Given the description of an element on the screen output the (x, y) to click on. 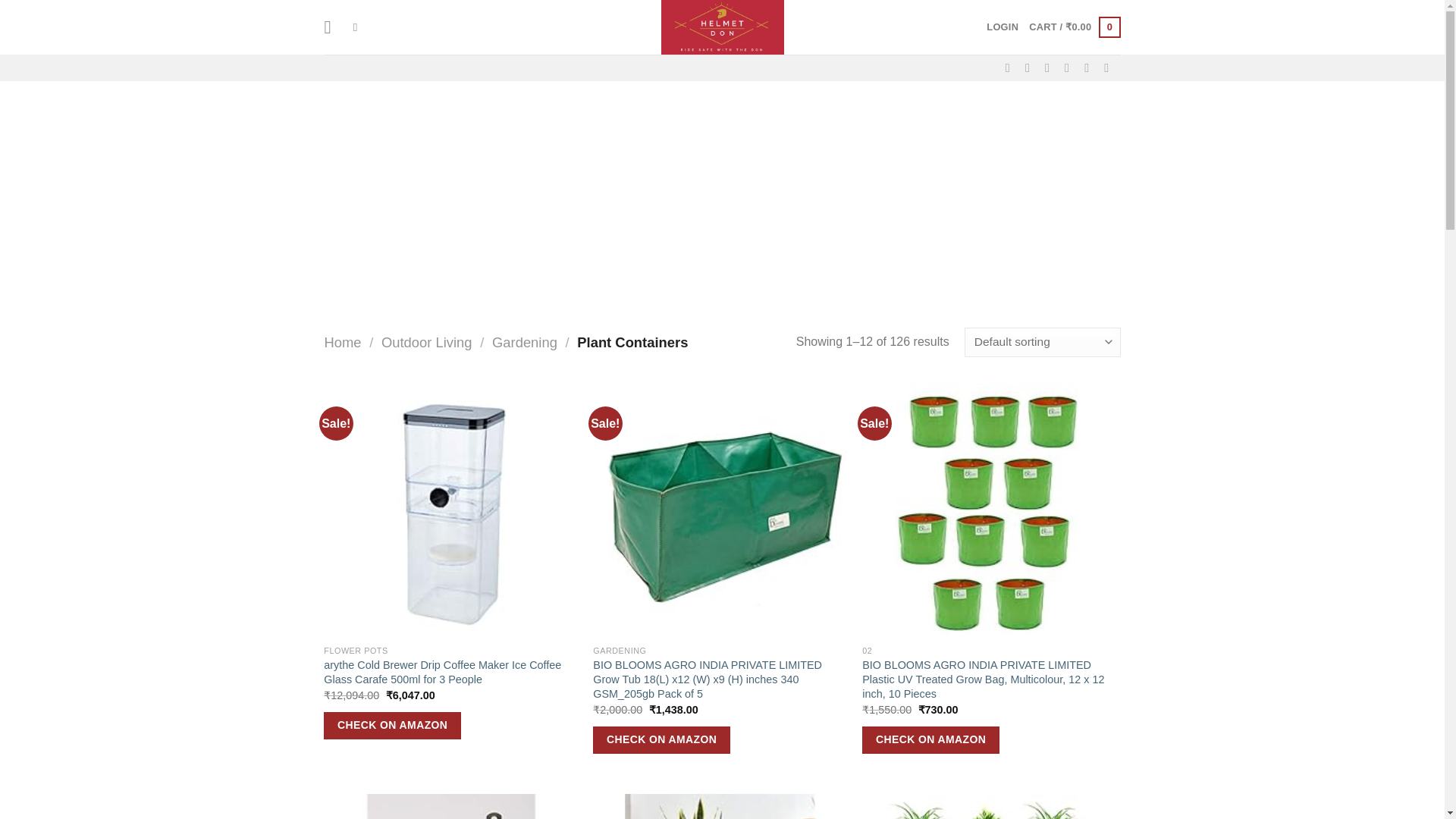
CAPPL Vertical Garden Wall Hanging Pot 4 (450, 806)
CHECK ON AMAZON (661, 739)
CHECK ON AMAZON (392, 725)
Home (342, 342)
CHECK ON AMAZON (929, 739)
Follow on LinkedIn (1090, 67)
